Given the description of an element on the screen output the (x, y) to click on. 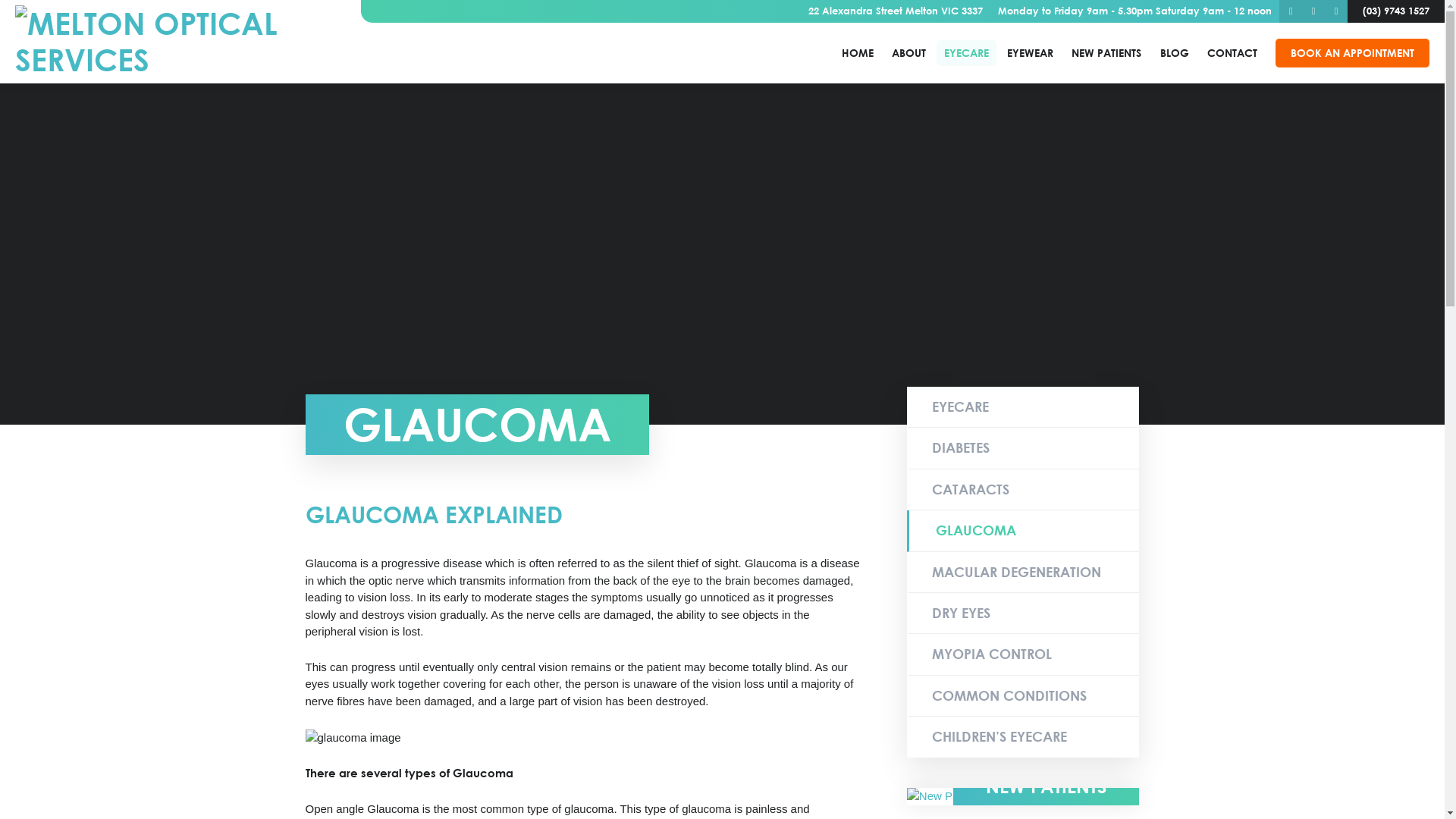
BOOK AN APPOINTMENT Element type: text (1352, 52)
MACULAR DEGENERATION Element type: text (1022, 572)
COMMON CONDITIONS Element type: text (1022, 695)
MYOPIA CONTROL Element type: text (1022, 653)
CATARACTS Element type: text (1022, 489)
EYECARE Element type: text (1022, 406)
EYEWEAR Element type: text (1029, 52)
EYECARE Element type: text (966, 52)
ABOUT Element type: text (908, 52)
NEW PATIENTS Element type: text (1105, 52)
NEW PATIENTS Element type: text (1022, 796)
(03) 9743 1527 Element type: text (1395, 11)
GLAUCOMA Element type: text (1022, 530)
HOME Element type: text (857, 52)
DIABETES Element type: text (1022, 447)
DRY EYES Element type: text (1022, 613)
BLOG Element type: text (1174, 52)
CONTACT Element type: text (1231, 52)
